Given the description of an element on the screen output the (x, y) to click on. 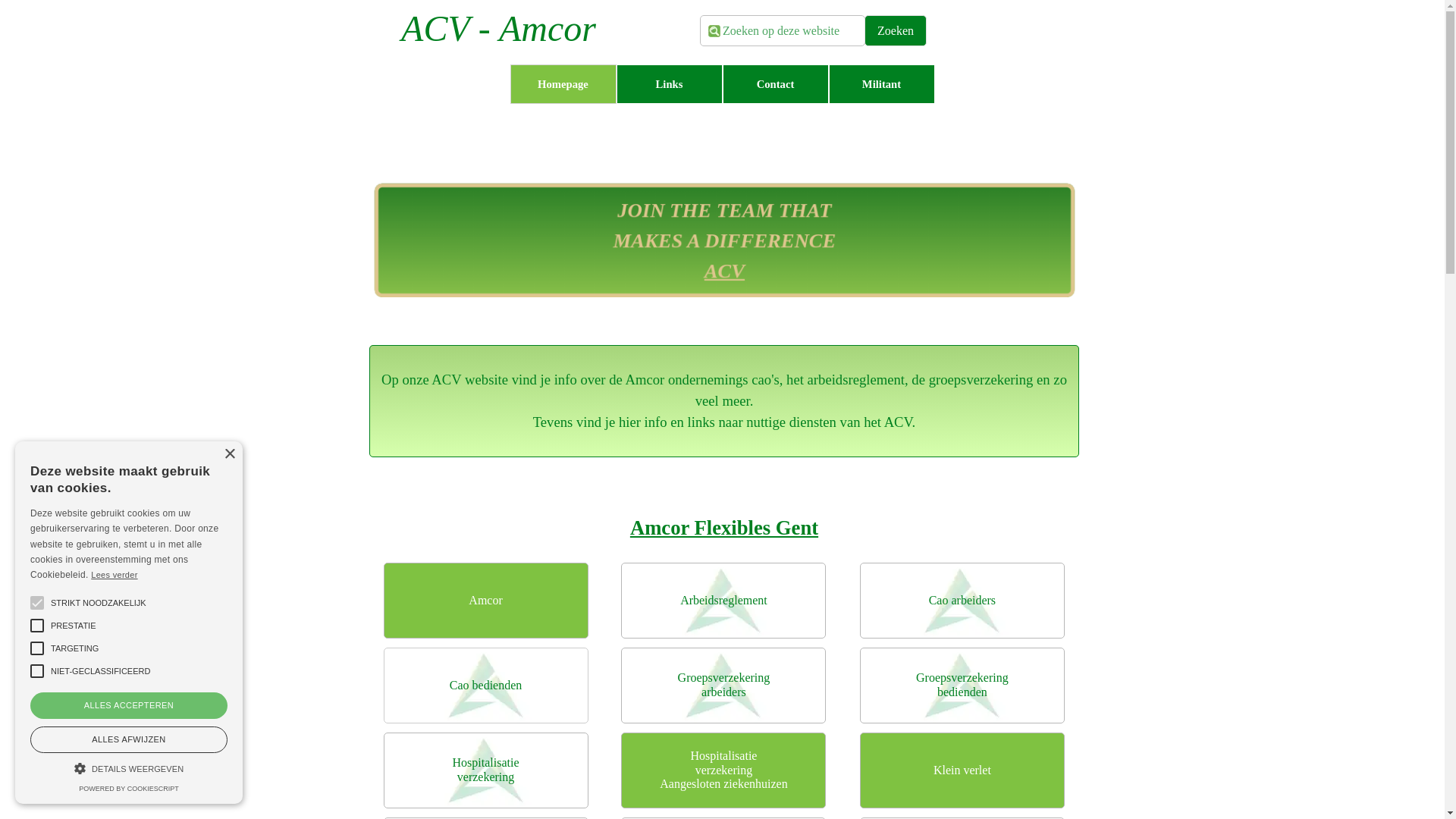
Homepage Element type: text (562, 84)
Groepsverzekering
bedienden Element type: text (961, 685)
Contact Element type: text (774, 84)
Cao arbeiders Element type: text (961, 600)
Hospitalisatie
verzekering Element type: text (485, 770)
Groepsverzekering
arbeiders Element type: text (723, 685)
Klein verlet Element type: text (961, 770)
Militant Element type: text (881, 84)
Lees verder Element type: text (114, 574)
Links Element type: text (668, 84)
Arbeidsreglement Element type: text (723, 600)
Hospitalisatie
verzekering
Aangesloten ziekenhuizen Element type: text (723, 770)
Zoeken Element type: text (895, 30)
Amcor Element type: text (485, 600)
Cao bedienden Element type: text (485, 685)
ACV - Amcor Element type: text (498, 28)
POWERED BY COOKIESCRIPT Element type: text (128, 788)
